Given the description of an element on the screen output the (x, y) to click on. 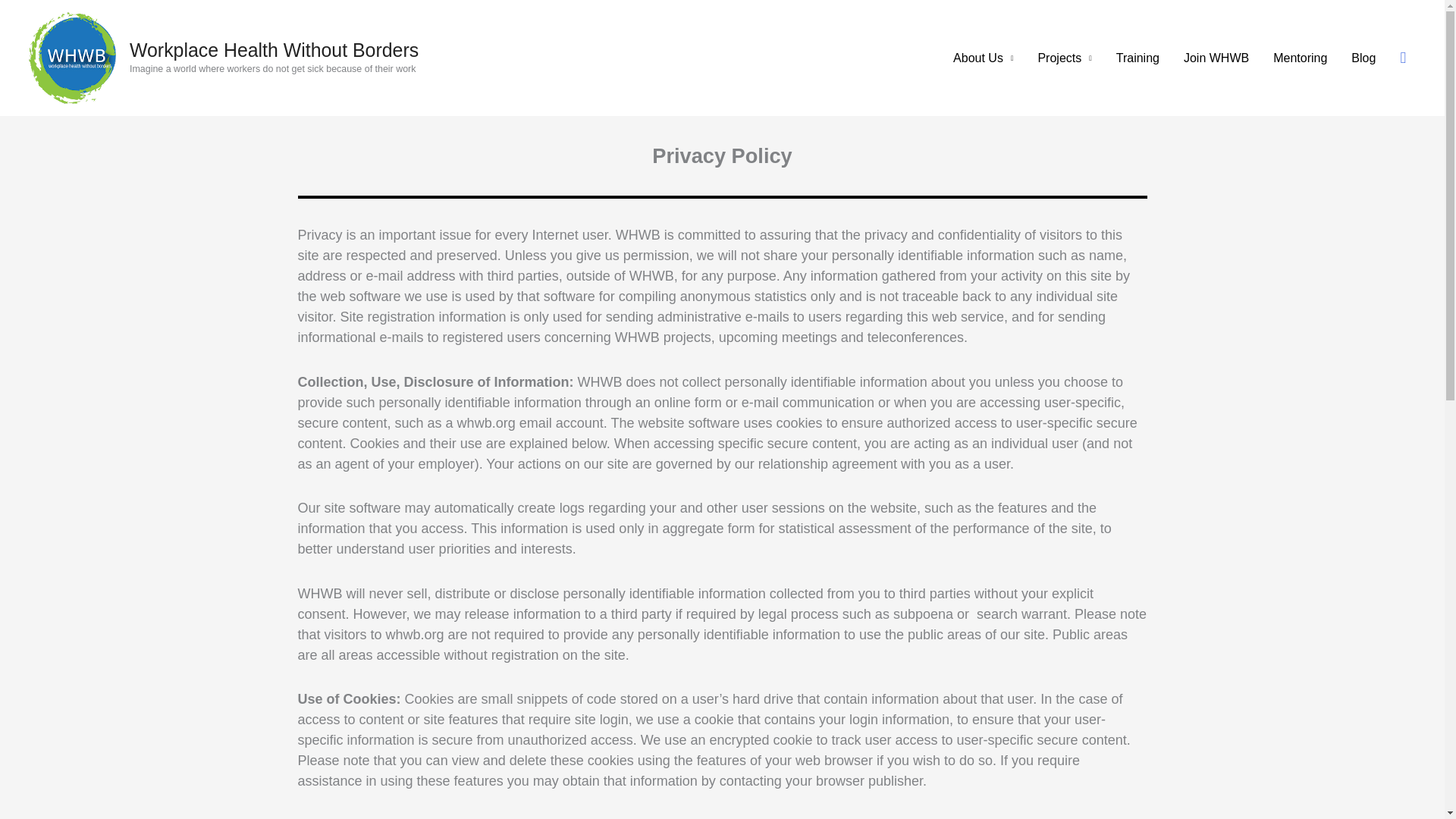
About Us (982, 58)
Search (1402, 57)
Training (1137, 58)
Join WHWB (1216, 58)
Projects (1064, 58)
Mentoring (1299, 58)
Workplace Health Without Borders (274, 49)
Blog (1363, 58)
